Given the description of an element on the screen output the (x, y) to click on. 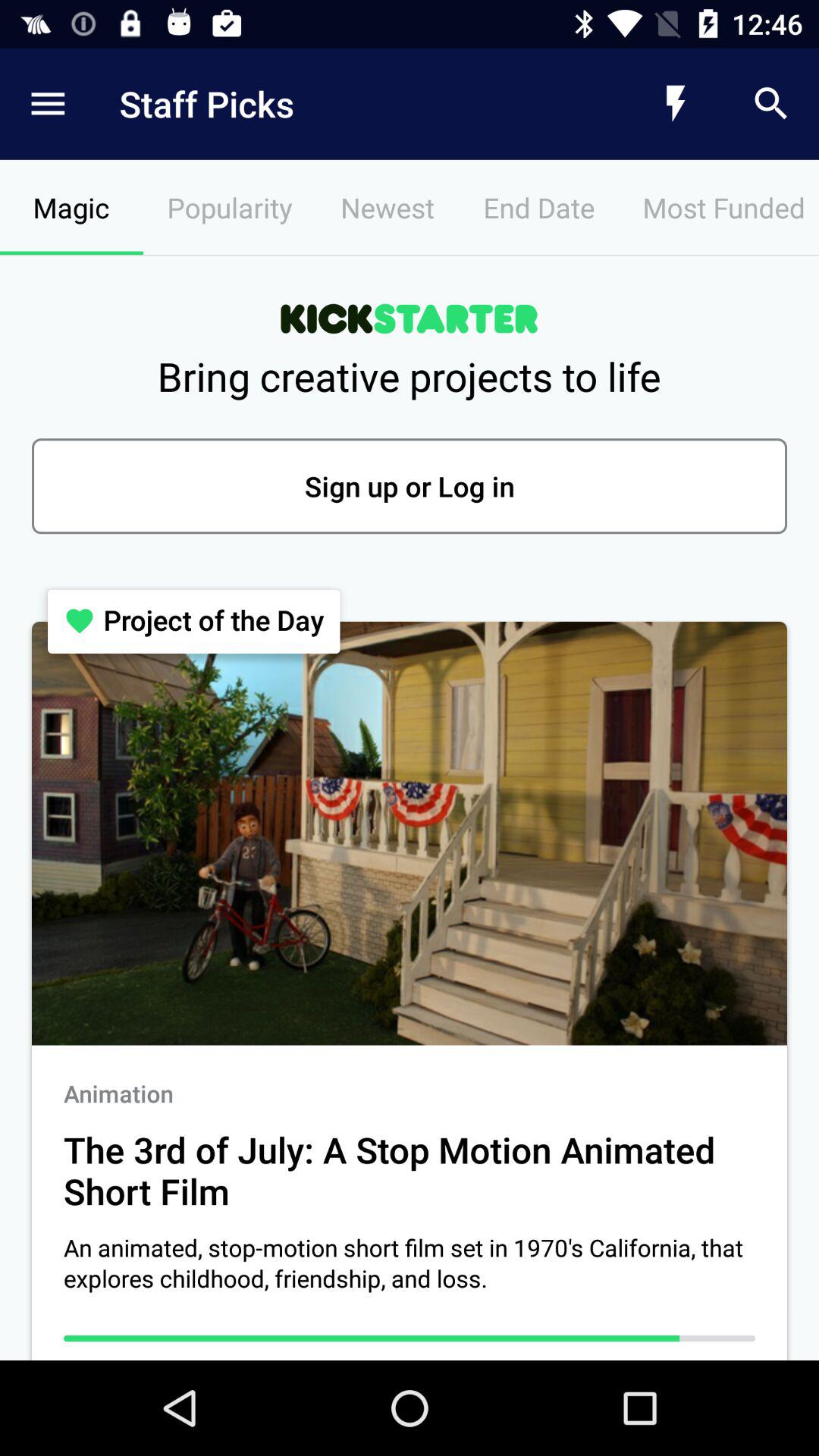
turn off item next to staff picks item (47, 103)
